Given the description of an element on the screen output the (x, y) to click on. 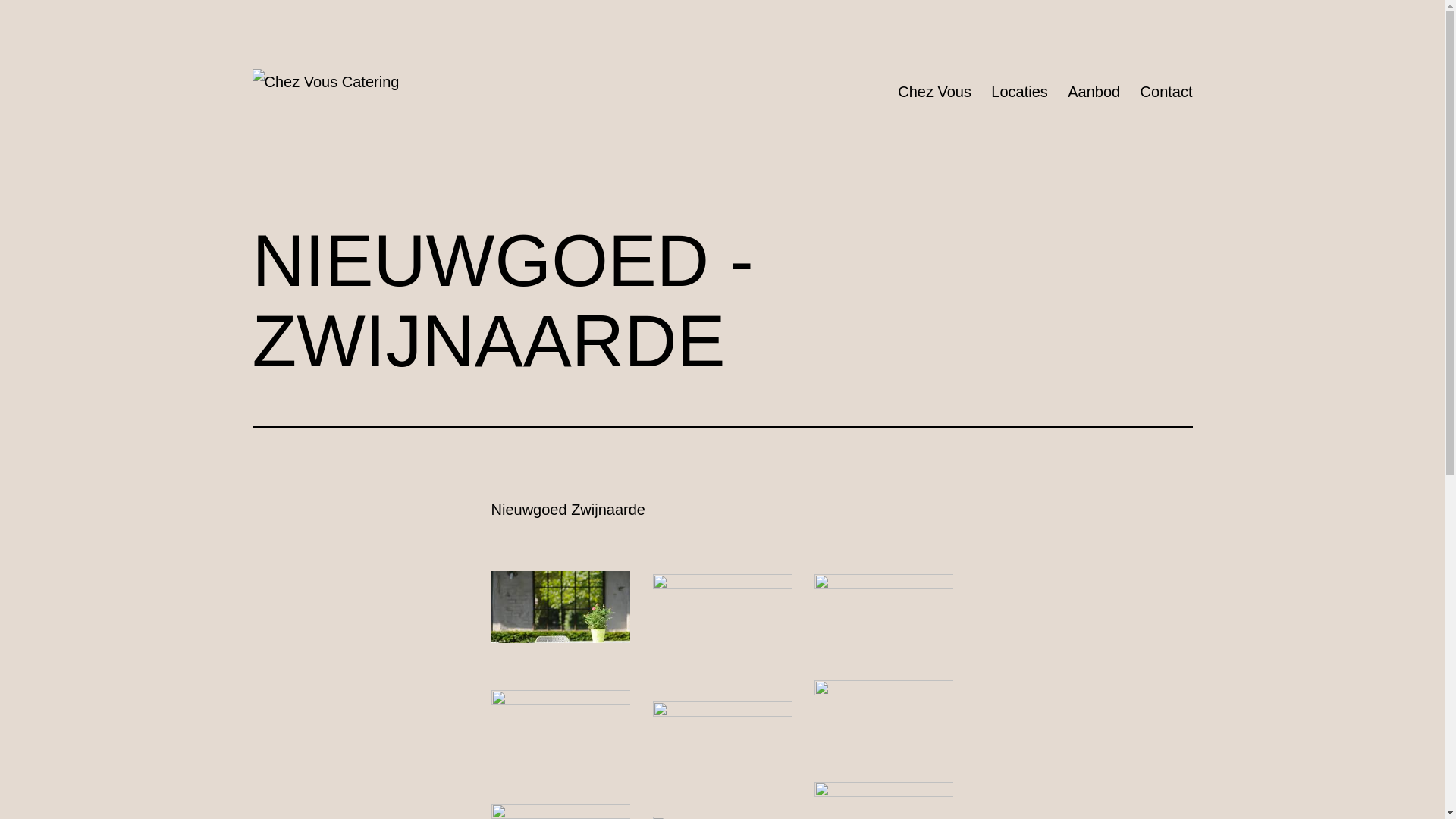
Contact Element type: text (1165, 91)
Nieuwgoed Zwijnaarde (16) Element type: hover (560, 732)
Nieuwgoed Zwijnaarde (13) Element type: hover (721, 744)
Aanbod Element type: text (1093, 91)
De Rozerie 5 Element type: hover (883, 716)
Chez Vous Element type: text (934, 91)
Nieuwgoed Zwijnaarde (14) Element type: hover (721, 622)
Nieuwgoed Zwijnaarde (15) Element type: hover (560, 617)
Woestyne (15) Element type: hover (883, 612)
Locaties Element type: text (1019, 91)
